Given the description of an element on the screen output the (x, y) to click on. 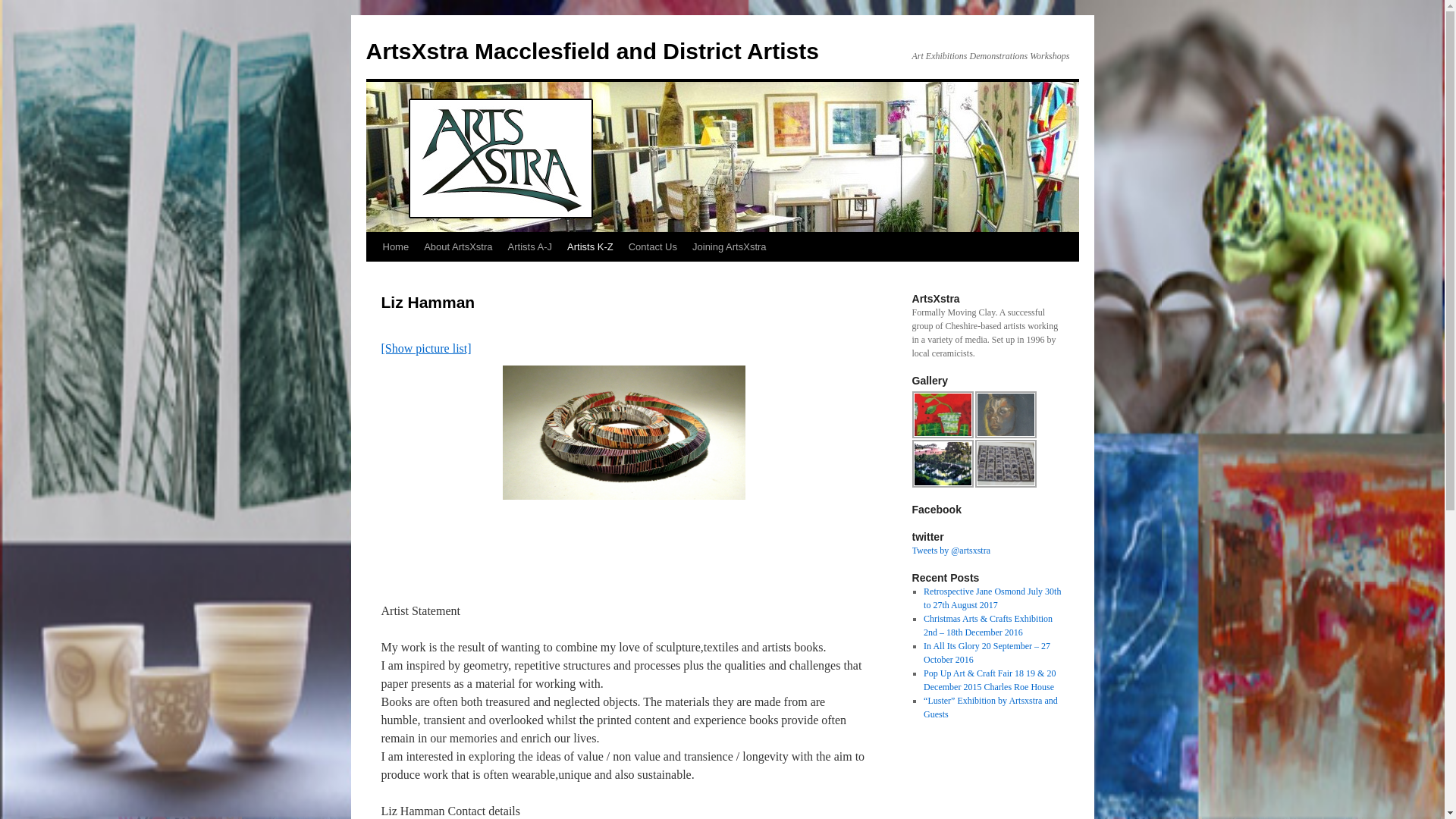
ArtsXstra Macclesfield and District Artists (591, 50)
image3 (941, 414)
contemplation (1005, 414)
Contact Us (652, 246)
Artists A-J (530, 246)
Artists K-Z (590, 246)
About ArtsXstra (457, 246)
Joining ArtsXstra (729, 246)
Home (395, 246)
ArtsXstra Macclesfield and District Artists (591, 50)
